Given the description of an element on the screen output the (x, y) to click on. 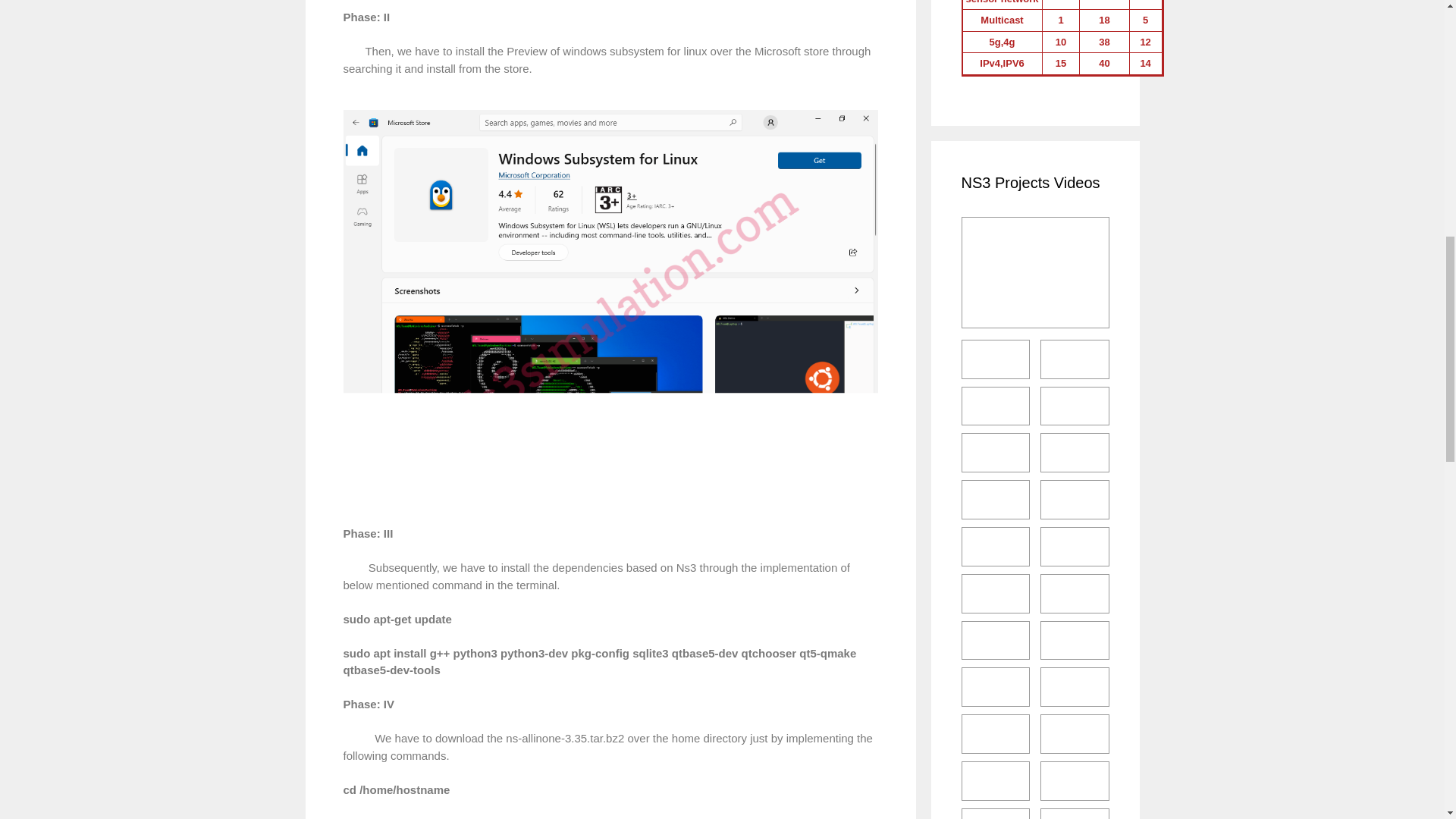
Performance Evaluation of Different Routing Protocols (995, 405)
Performance Analysis of Reinforcement Learning Scheduling (995, 499)
Performance Analysis of Underwater Sensor Networks (1075, 546)
Performance Analysis and Optimization 5G Cloud Networks (1075, 499)
Performance analysis of ORCHESTRATION NETWORKS (995, 359)
Simulation analysis of AODV and  DSR Routing Protocols (1075, 359)
Comparative Analysis of AODV and DSR Protocols (1075, 405)
Comparative Analysis of OLSR Routing Protocols (995, 452)
